Given the description of an element on the screen output the (x, y) to click on. 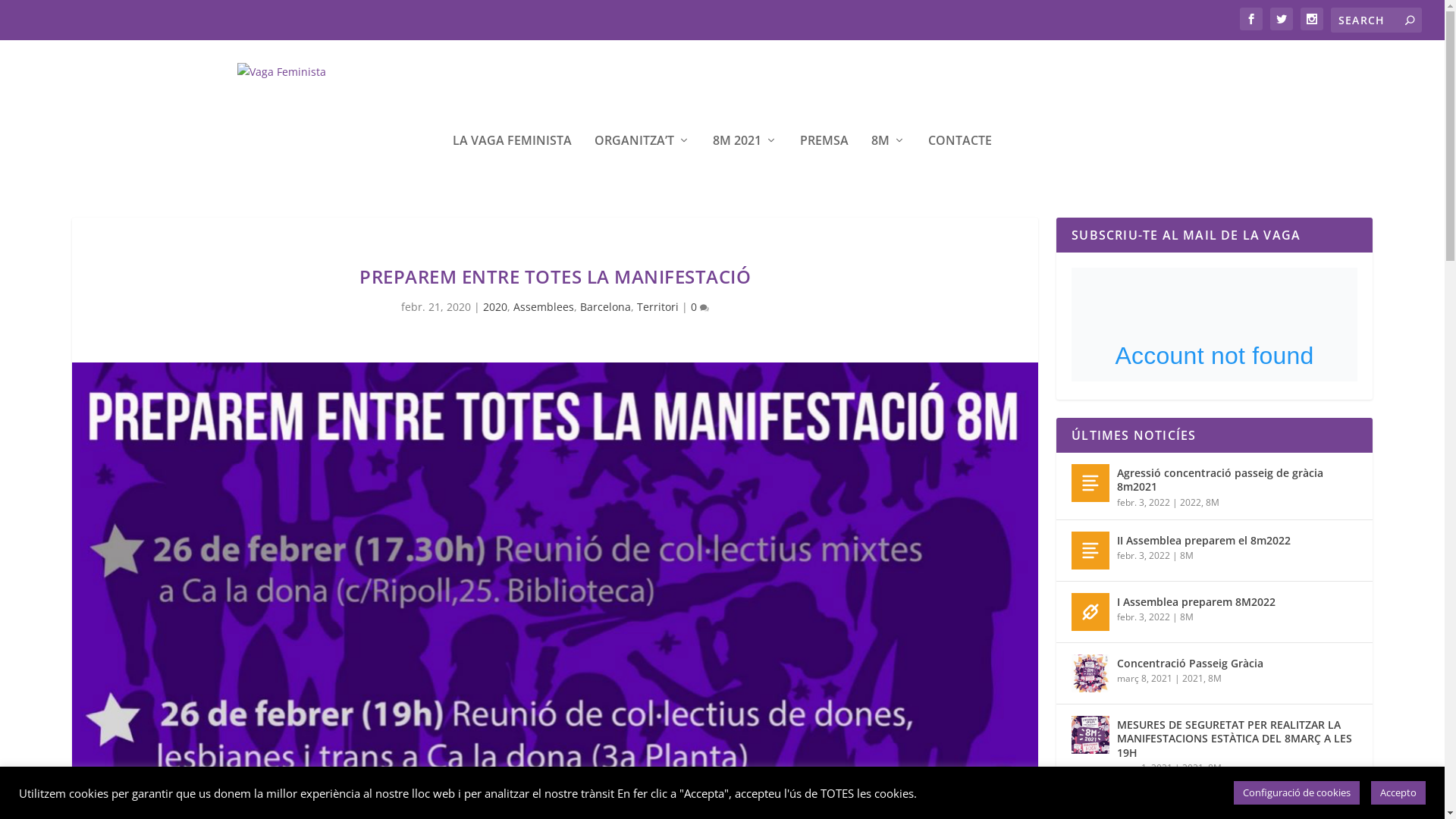
8M Element type: text (1212, 501)
PREMSA Element type: text (824, 160)
Cerca Element type: text (25, 14)
I Assemblea preparem 8M2022 Element type: text (1196, 602)
2021 Element type: text (1192, 677)
Territori Element type: text (657, 306)
8M Element type: text (1214, 677)
CONTACTE Element type: text (959, 160)
8M Element type: text (1186, 555)
8M 2021 Element type: text (744, 160)
8M Element type: text (888, 160)
I Assemblea preparem 8M2022 Element type: hover (1090, 611)
Accepto Element type: text (1398, 792)
8M Element type: text (1214, 767)
2021 Element type: text (1192, 767)
Search for: Element type: hover (1375, 19)
comment count Element type: hover (704, 307)
II Assemblea preparem el 8m2022 Element type: hover (1090, 550)
0 Element type: text (699, 306)
2020 Element type: text (495, 306)
LA VAGA FEMINISTA Element type: text (511, 160)
II Assemblea preparem el 8m2022 Element type: text (1203, 540)
Assemblees Element type: text (543, 306)
8M Element type: text (1186, 616)
Barcelona Element type: text (605, 306)
2022 Element type: text (1190, 501)
